Given the description of an element on the screen output the (x, y) to click on. 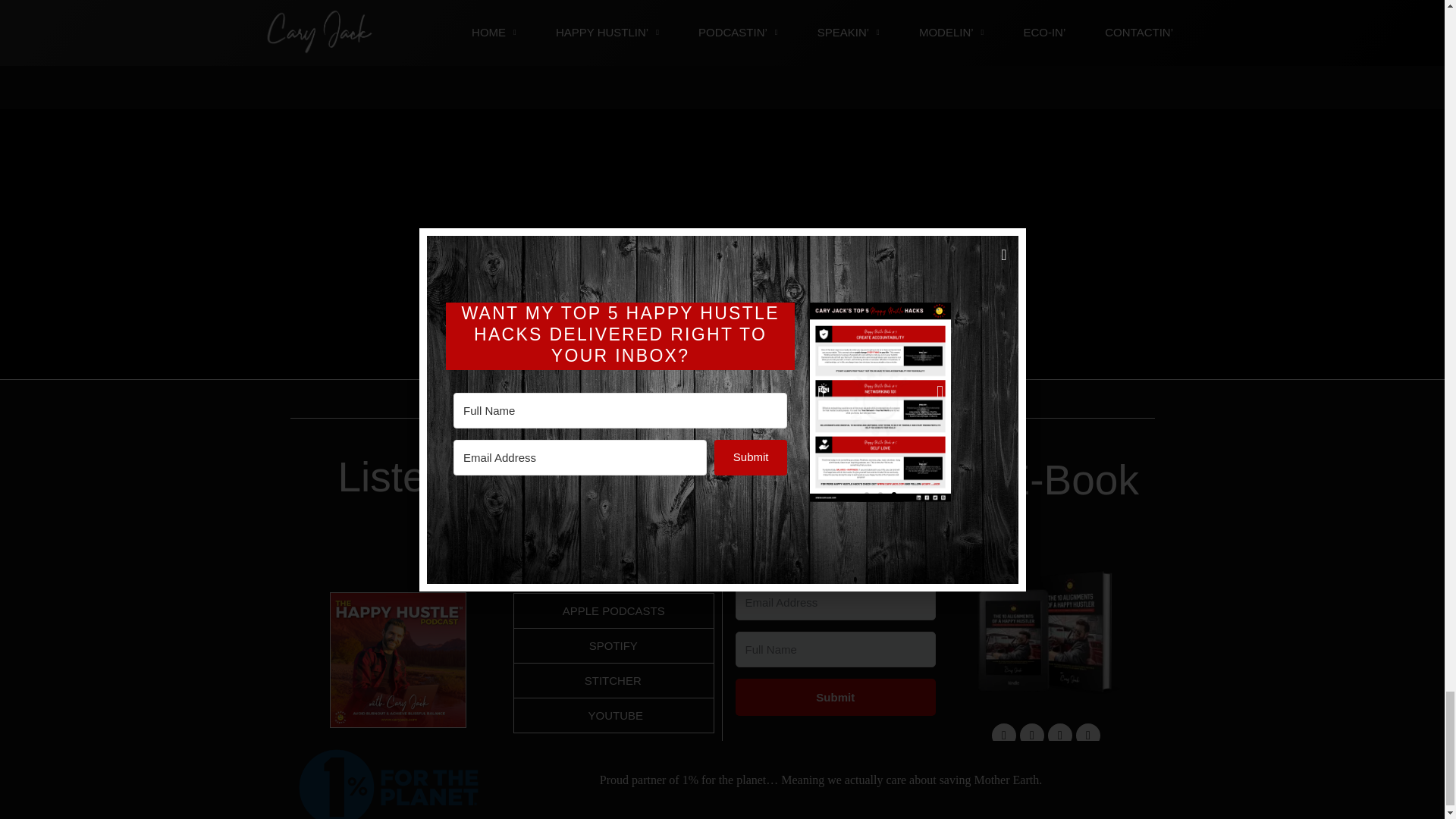
caryjack-icon-footer-applepodcast (474, 273)
caryjack-icon-footer-youtube (598, 273)
caryjack-icon-footer-spotify (845, 273)
caryjack-icon-footer-souncloud (969, 273)
caryjack-icon-footer-stitcher (722, 273)
